Given the description of an element on the screen output the (x, y) to click on. 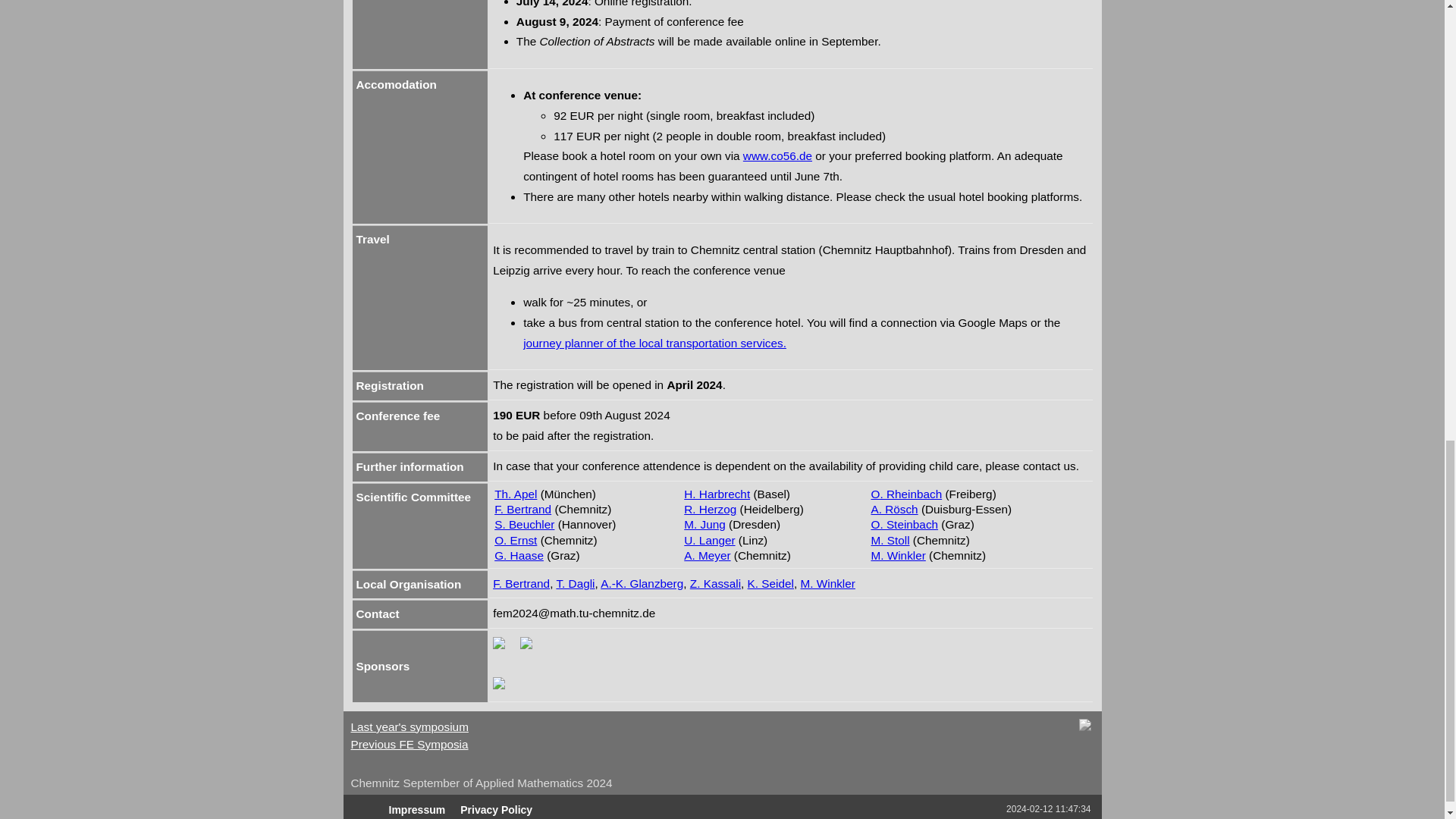
history since 1978 (408, 744)
Florianne Bertrand (521, 583)
R. Herzog (710, 508)
Last year's symposium (408, 726)
Previous FE Symposia (408, 744)
A.-K. Glanzberg (640, 583)
O. Steinbach (903, 523)
S. Beuchler (524, 523)
2023 (408, 726)
history since 1978 (1088, 734)
